Given the description of an element on the screen output the (x, y) to click on. 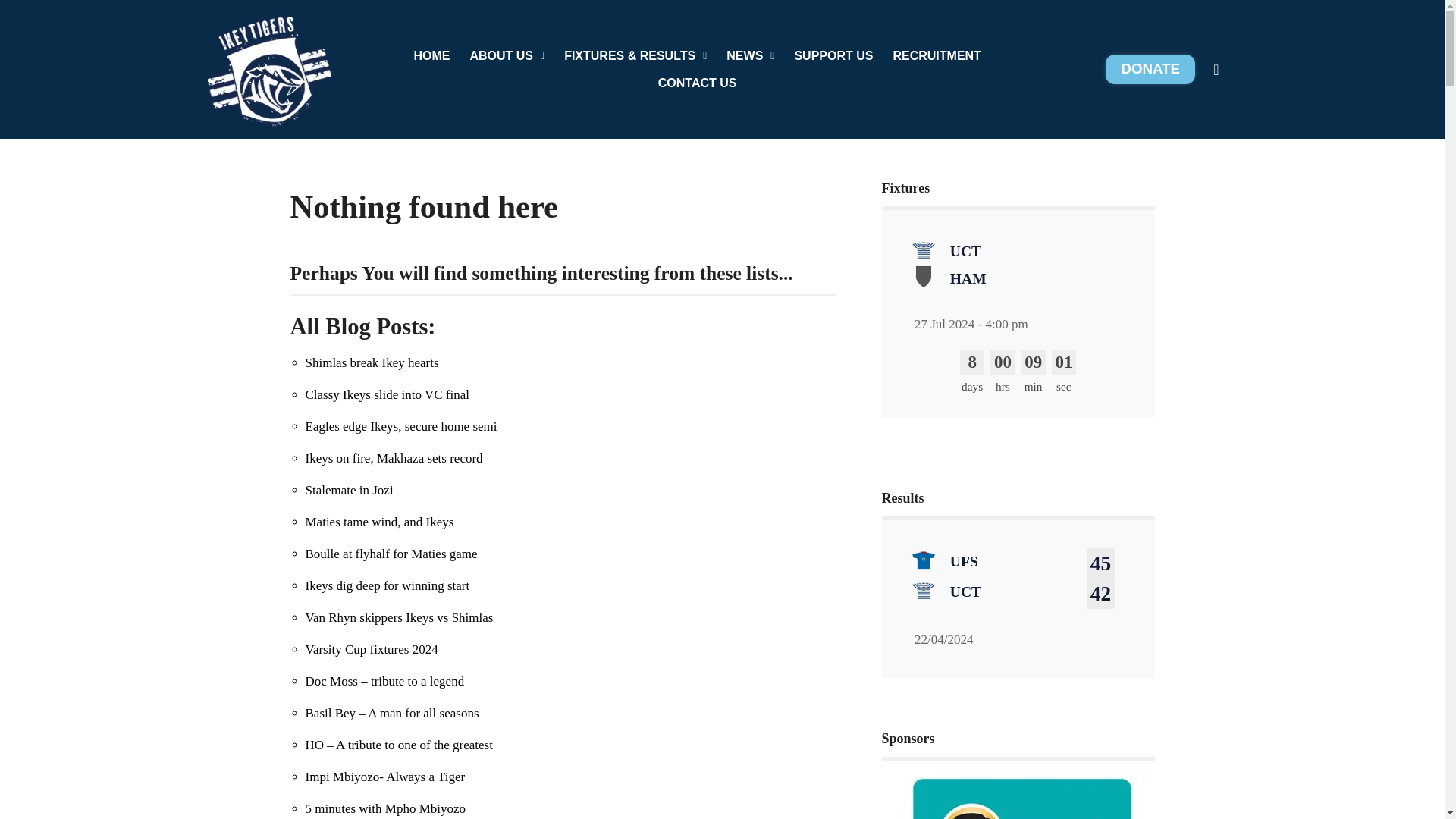
CONTACT US (696, 83)
Permanent Link to Van Rhyn skippers Ikeys vs Shimlas (398, 617)
Impi Mbiyozo- Always a Tiger (384, 776)
Varsity Cup fixtures 2024 (371, 649)
Stalemate in Jozi (348, 490)
Permanent Link to Ikeys dig deep for winning start (386, 585)
Ikeys dig deep for winning start (386, 585)
Permanent Link to 5 minutes with Mpho Mbiyozo (384, 808)
Classy Ikeys slide into VC final (386, 394)
Permanent Link to Maties tame wind, and Ikeys (378, 522)
Shimlas break Ikey hearts (371, 362)
Permanent Link to Shimlas break Ikey hearts (371, 362)
Ikeys on fire, Makhaza sets record (392, 458)
ABOUT US (507, 55)
HOME (431, 55)
